Given the description of an element on the screen output the (x, y) to click on. 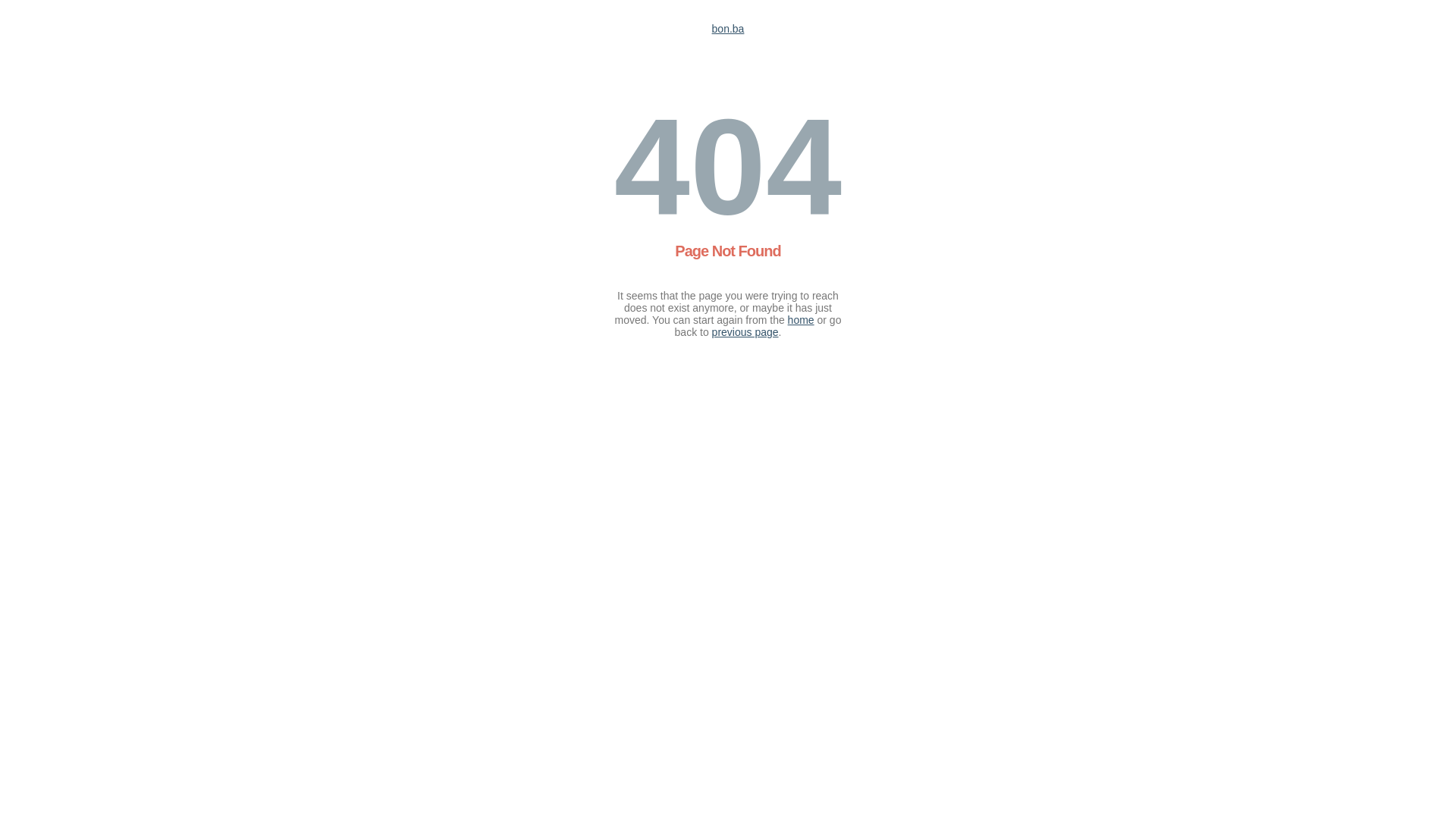
home Element type: text (800, 319)
bon.ba Element type: text (728, 28)
previous page Element type: text (745, 332)
